Given the description of an element on the screen output the (x, y) to click on. 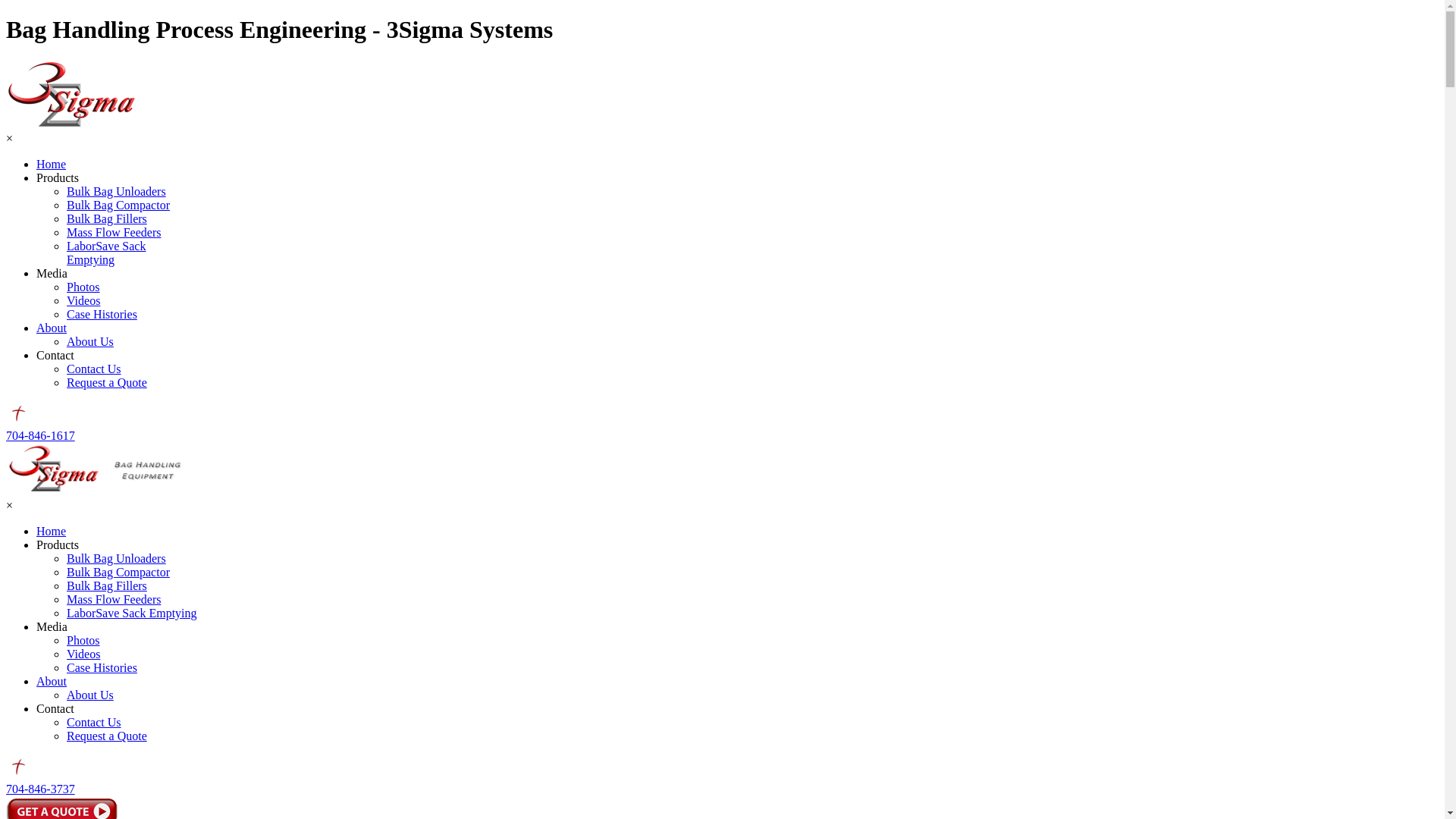
Photos Element type: text (83, 639)
Videos Element type: text (83, 653)
About Element type: text (51, 680)
Case Histories Element type: text (101, 667)
LaborSave Sack Emptying Element type: text (105, 252)
About Us Element type: text (89, 694)
Bulk Bag Unloaders Element type: text (116, 191)
Bulk Bag Unloaders Element type: text (116, 558)
Bulk Bag Compactor Element type: text (117, 571)
Mass Flow Feeders Element type: text (113, 231)
Request a Quote Element type: text (106, 735)
3Sigma Super Sack Discharging Element type: hover (95, 468)
Contact Us Element type: text (93, 368)
Contact Us Element type: text (93, 721)
LaborSave Sack Emptying Element type: text (131, 612)
Mass Flow Feeders Element type: text (113, 599)
Photos Element type: text (83, 286)
Home Element type: text (50, 163)
Home Element type: text (50, 530)
Request a Quote Element type: text (106, 382)
704-846-3737 Element type: text (40, 788)
704-846-1617 Element type: text (40, 435)
3Sigma Automated Material Handling Element type: hover (17, 413)
3Sigma Material Handling Solutions Element type: hover (71, 94)
Videos Element type: text (83, 300)
About Element type: text (51, 327)
About Us Element type: text (89, 341)
Bulk Bag Compactor Element type: text (117, 204)
Case Histories Element type: text (101, 313)
Bulk Bag Fillers Element type: text (106, 218)
Bulk Bag Fillers Element type: text (106, 585)
